Given the description of an element on the screen output the (x, y) to click on. 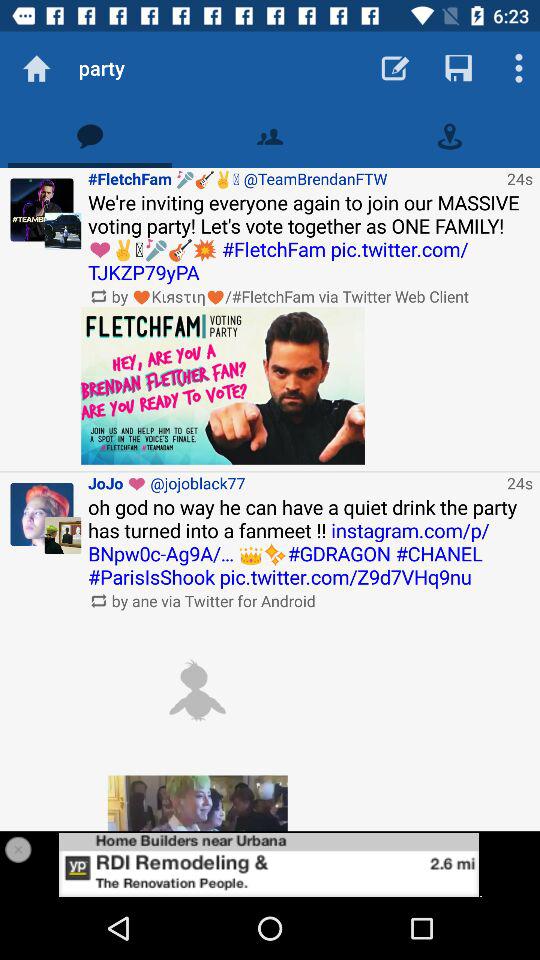
go to user home page (41, 209)
